Given the description of an element on the screen output the (x, y) to click on. 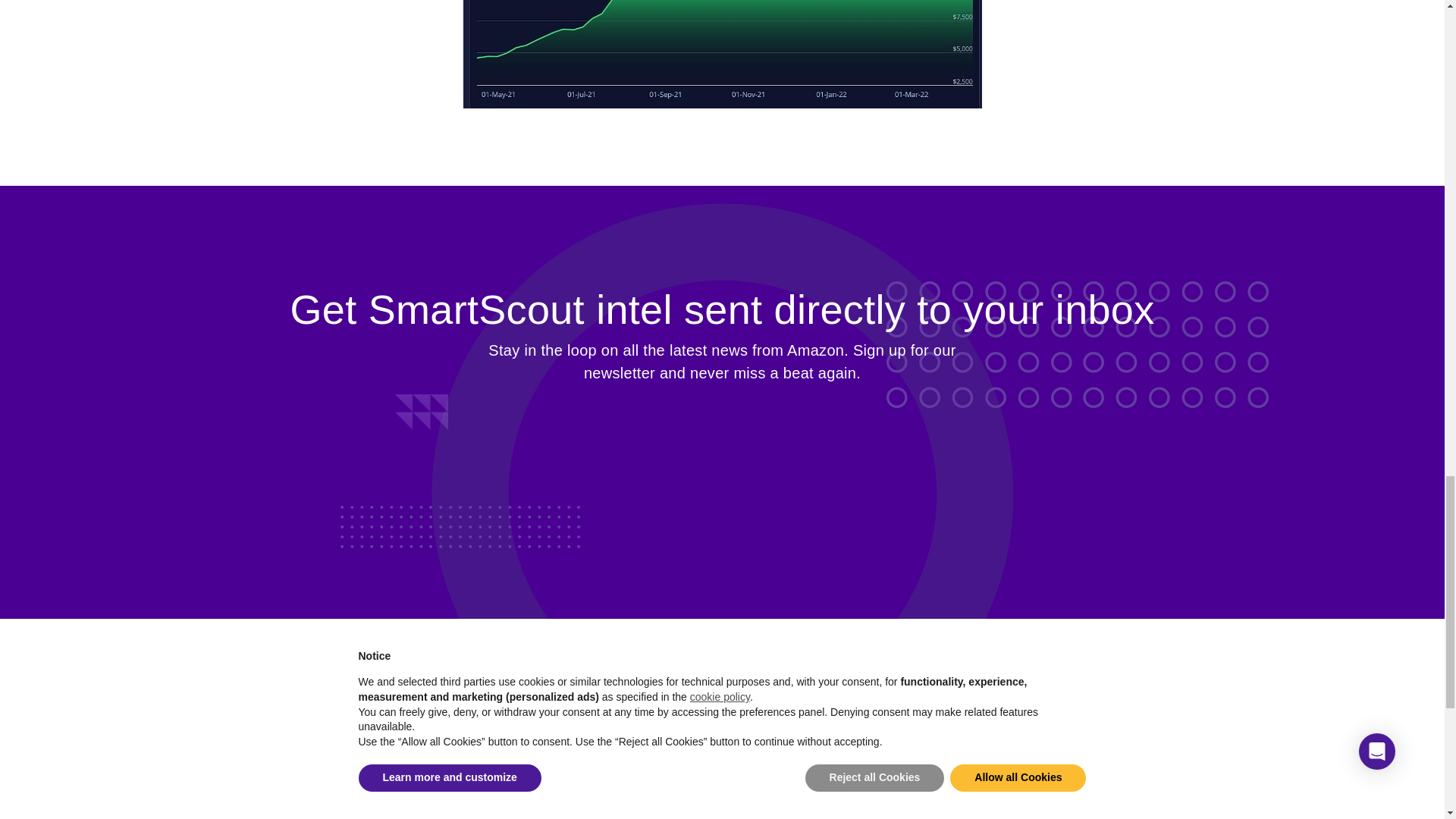
Form 0 (722, 454)
